Given the description of an element on the screen output the (x, y) to click on. 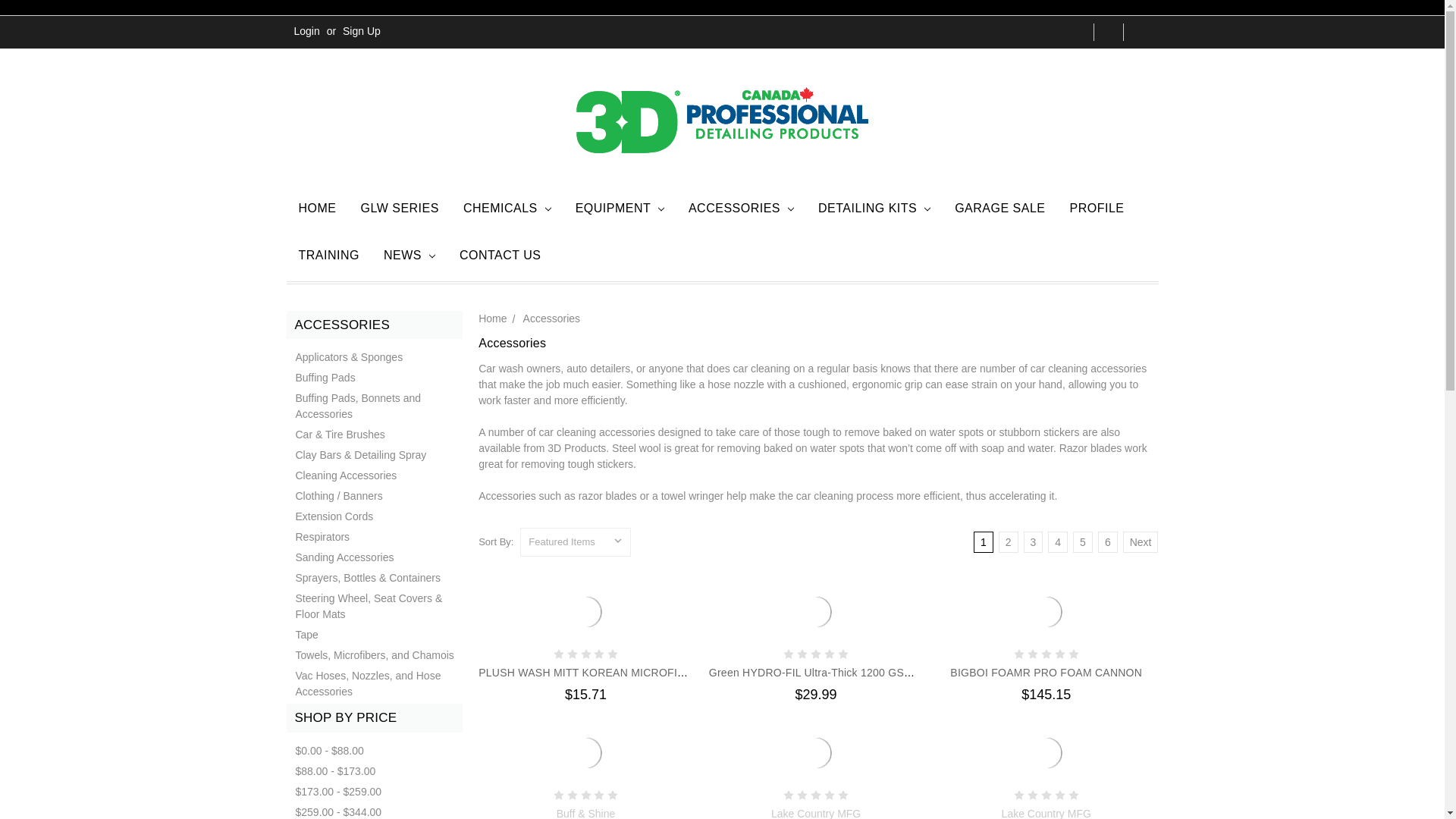
Search (1108, 31)
Cleaning Accessories (375, 476)
GLW SERIES (400, 210)
HOME (317, 210)
Vac Hoses, Nozzles, and Hose Accessories (375, 683)
Login (306, 31)
Cart (1140, 31)
Sign Up (361, 31)
CHEMICALS (507, 210)
Respirators (375, 537)
